Given the description of an element on the screen output the (x, y) to click on. 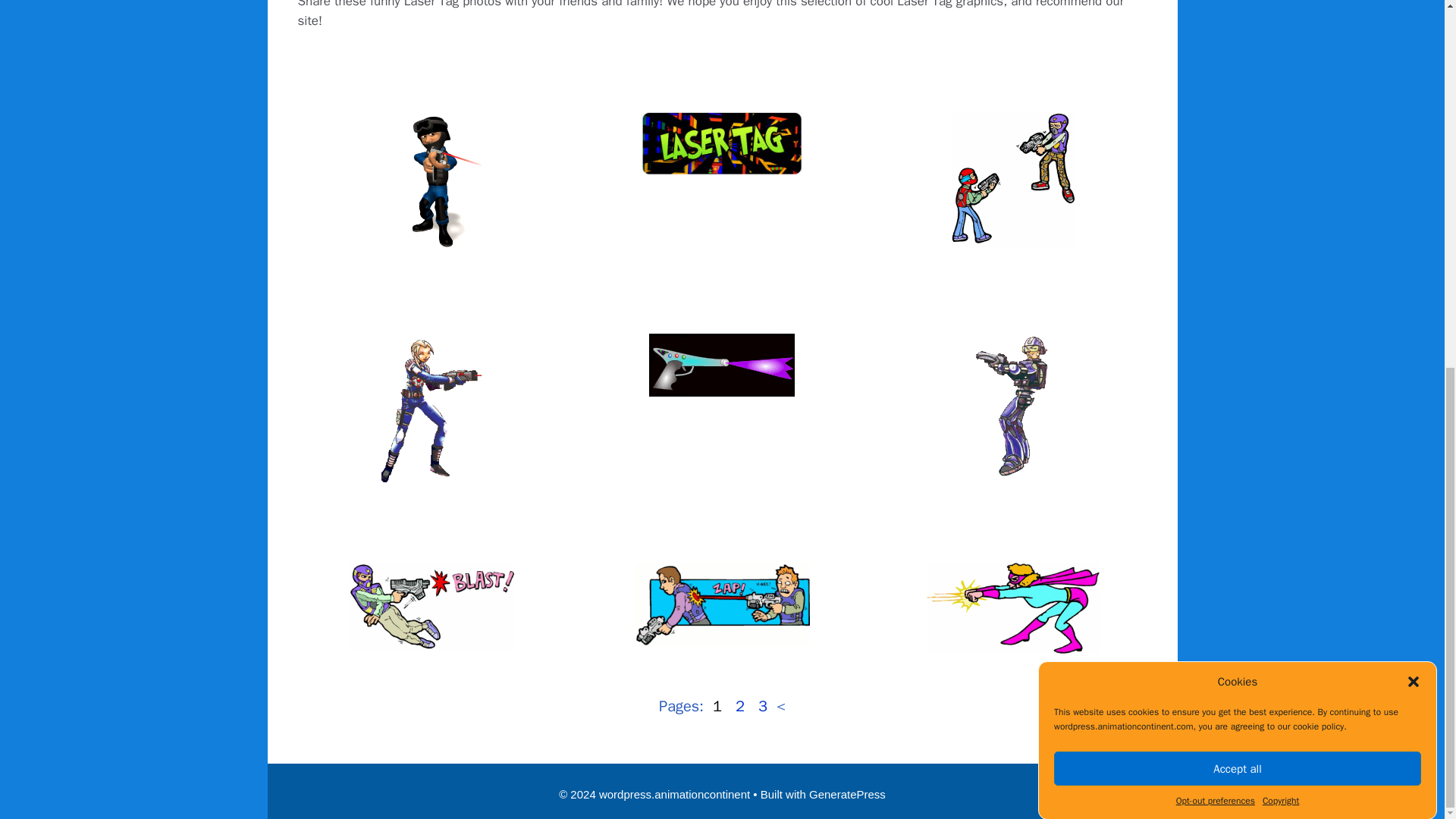
Accept all (1237, 376)
Opt-out preferences (1215, 231)
Copyright (1280, 210)
GeneratePress (847, 793)
